Given the description of an element on the screen output the (x, y) to click on. 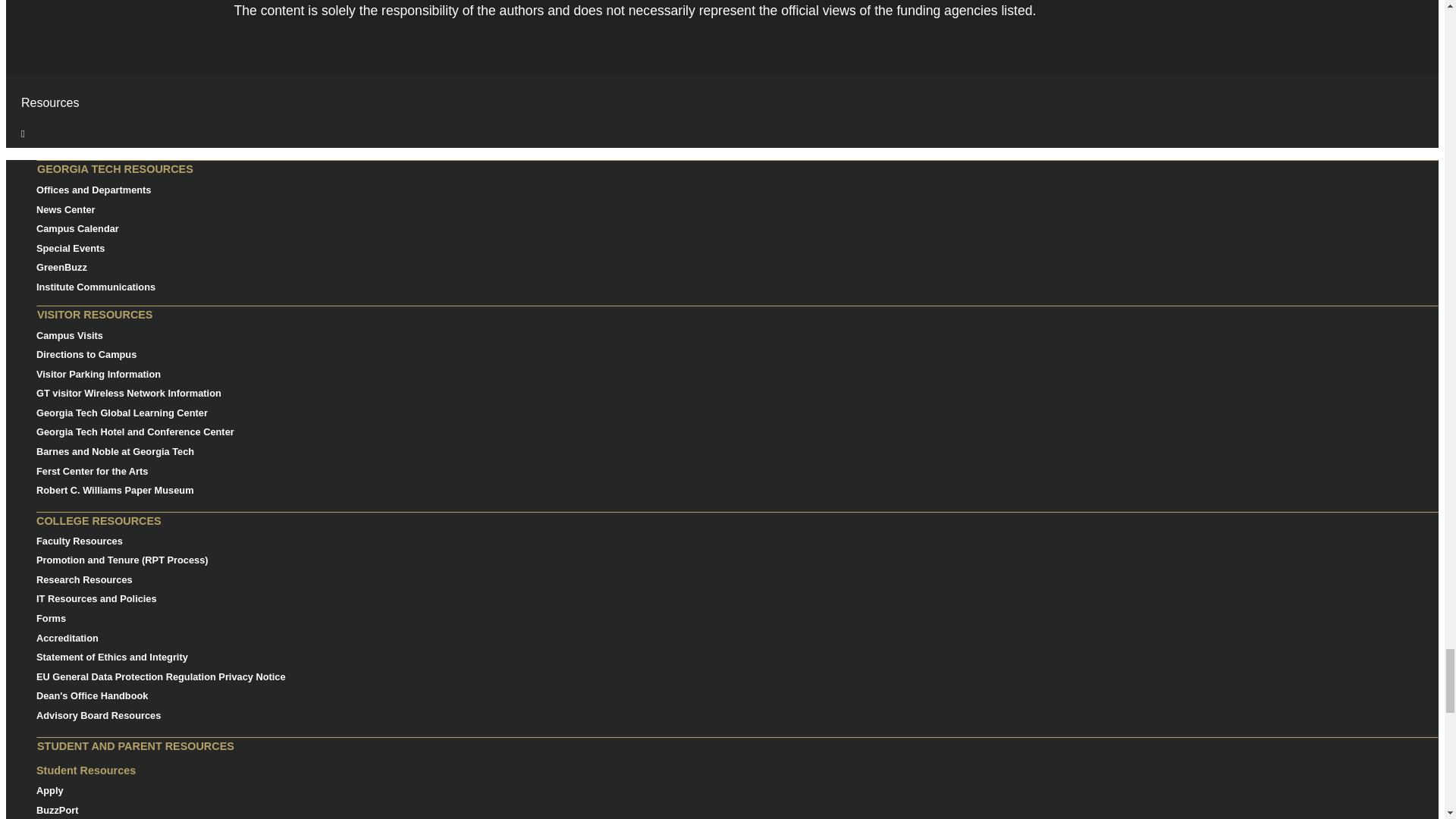
Georgia Tech Offices and Departments Directory (93, 189)
Georgia Tech Parking and Transportation Services (98, 374)
Visitor Resources Main Menu Category (737, 313)
Georgia Tech News Center (66, 209)
Visit Georgia Tech Campus (86, 354)
Georgia Tech Campus Visits (69, 335)
Georgia Tech Campus Calendar (77, 228)
Georgia Tech Resources Main Menu Category (737, 167)
Georgia Tech Office of Institute Communications (95, 286)
